Given the description of an element on the screen output the (x, y) to click on. 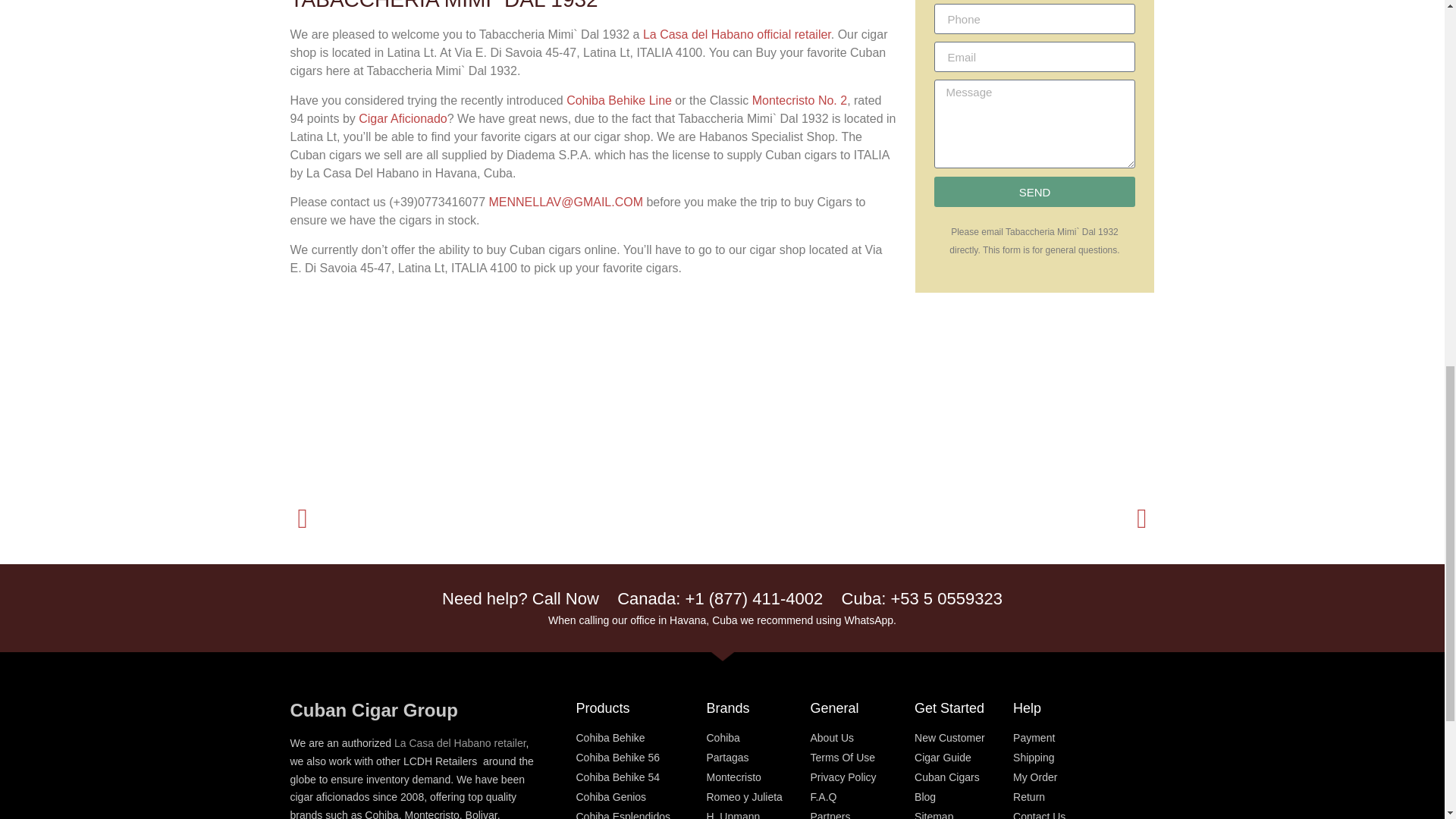
SEND (1034, 191)
Cohiba Behike Line (618, 100)
Cigar Aficionado (402, 118)
Montecristo No. 2 (799, 100)
La Casa del Habano official retailer (737, 33)
